Given the description of an element on the screen output the (x, y) to click on. 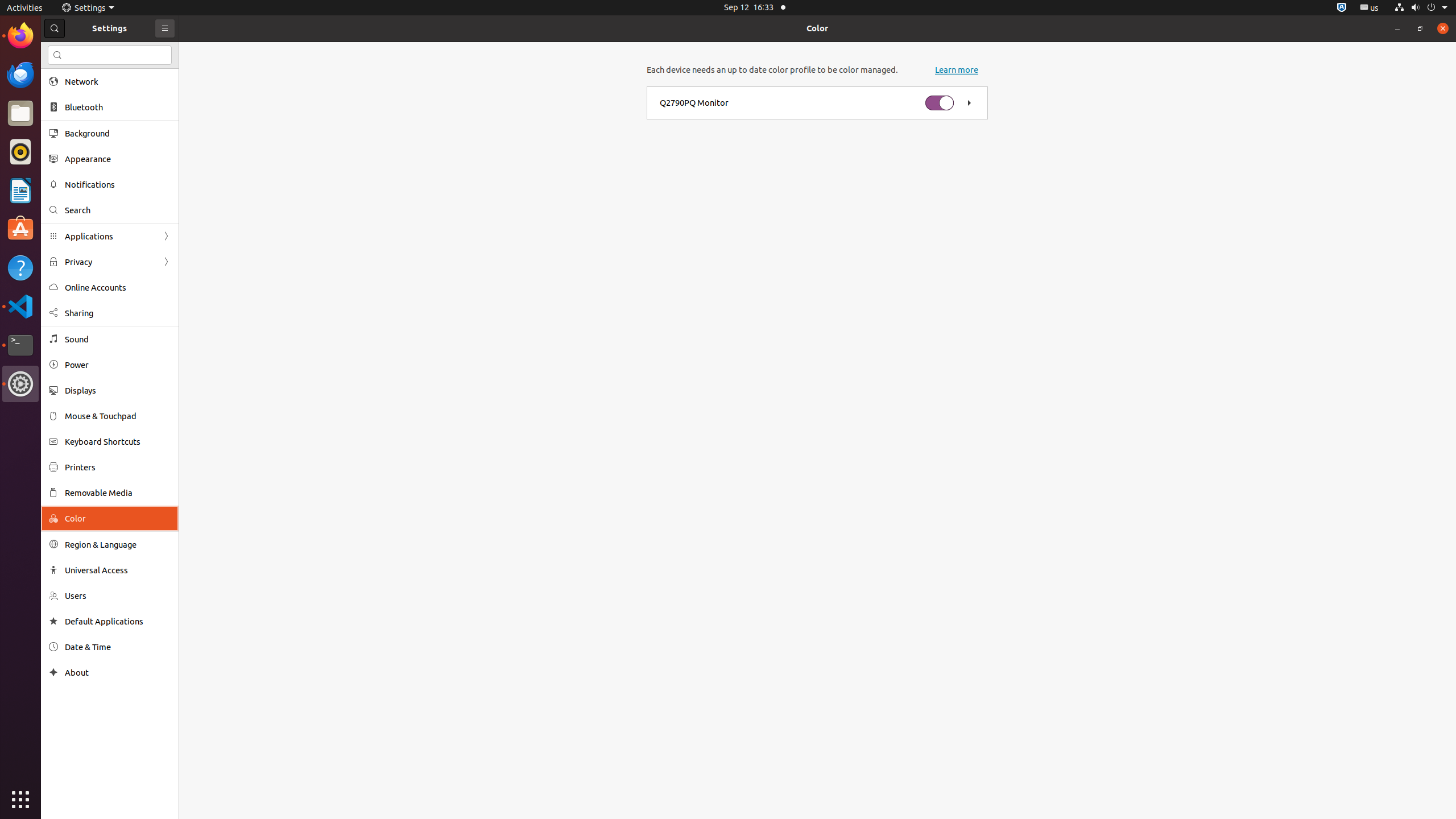
li.txt Element type: label (146, 50)
Printers Element type: label (117, 467)
Sharing Element type: label (117, 312)
Primary Menu Element type: toggle-button (164, 28)
Removable Media Element type: label (117, 492)
